Given the description of an element on the screen output the (x, y) to click on. 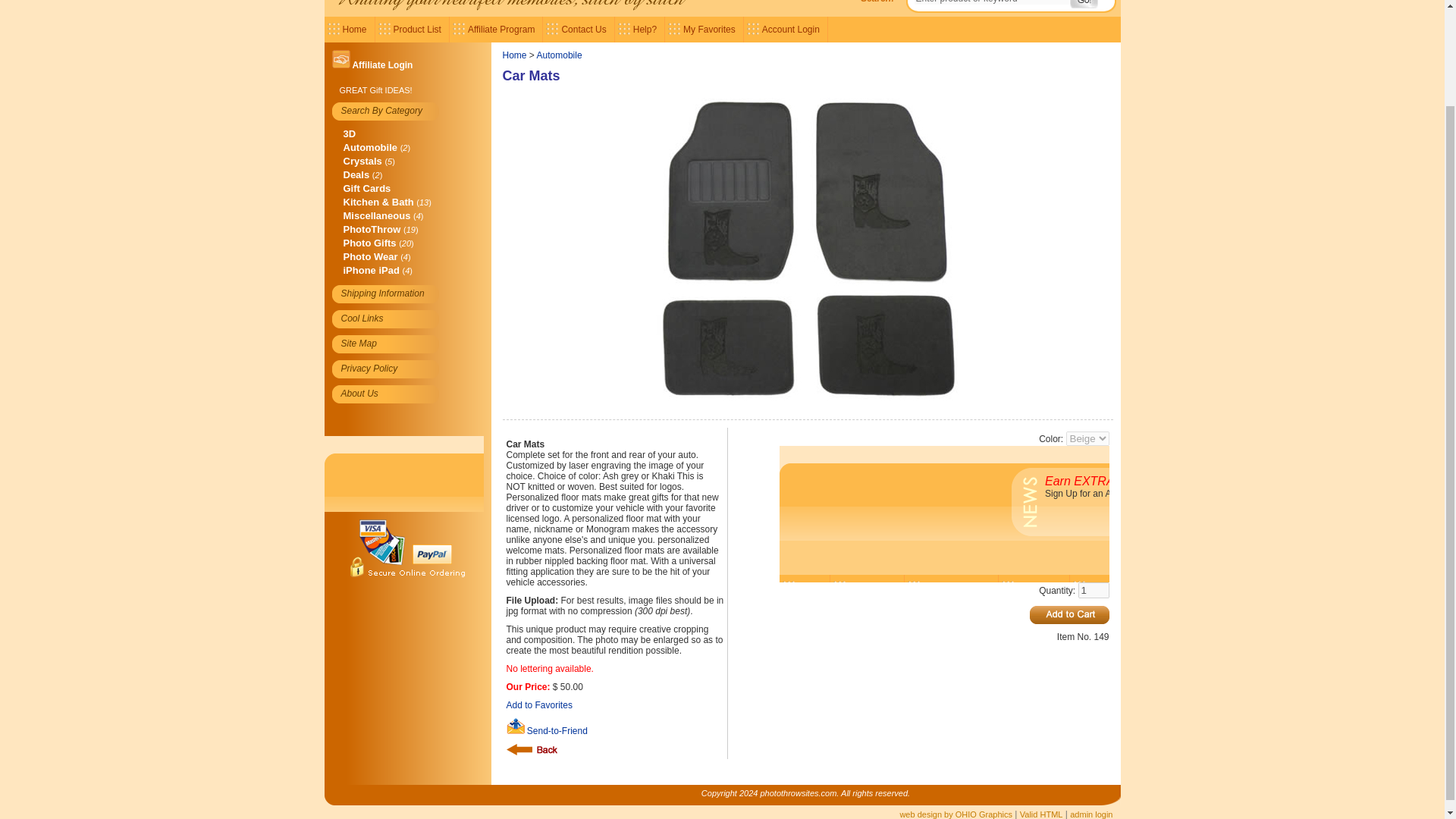
3D (348, 133)
Enter product or keyword (990, 2)
Help? (639, 29)
Gift Cards (366, 188)
Account Login (786, 29)
Contact Us (578, 29)
My Favorites (704, 29)
Add To Cart (1069, 615)
1 (1093, 590)
Affiliate Login (382, 64)
